Given the description of an element on the screen output the (x, y) to click on. 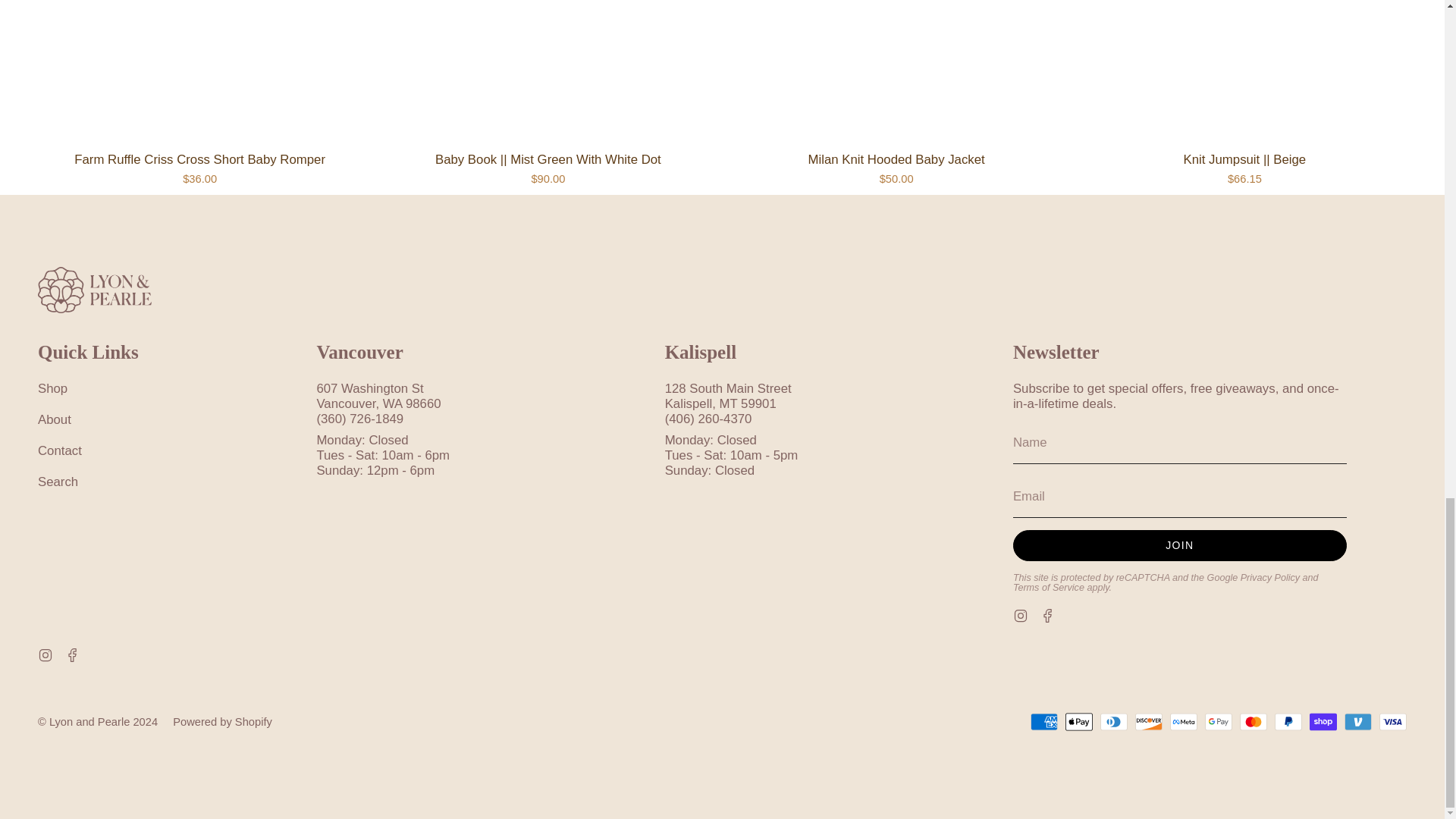
Lyon and Pearle on Instagram (44, 654)
Lyon and Pearle on Facebook (1048, 614)
Lyon and Pearle on Facebook (72, 654)
Lyon and Pearle on Instagram (1020, 614)
